Given the description of an element on the screen output the (x, y) to click on. 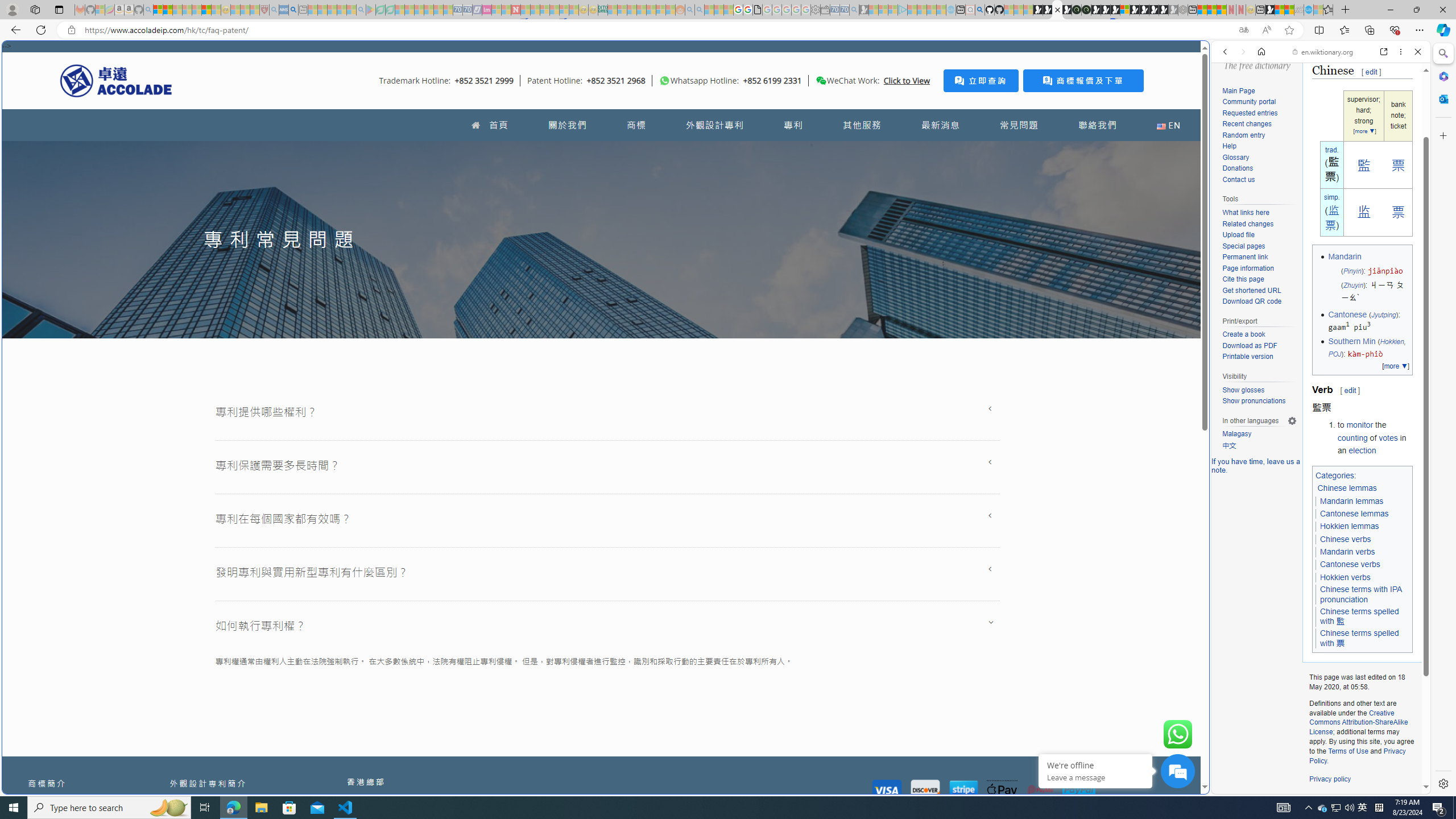
DITOGAMES AG Imprint (602, 9)
google - Search - Sleeping (360, 9)
Close split screen (1208, 57)
Chinese terms with IPA pronunciation (1362, 594)
Recent changes (1246, 124)
Accolade IP HK Logo (116, 80)
simp. (1331, 197)
